Given the description of an element on the screen output the (x, y) to click on. 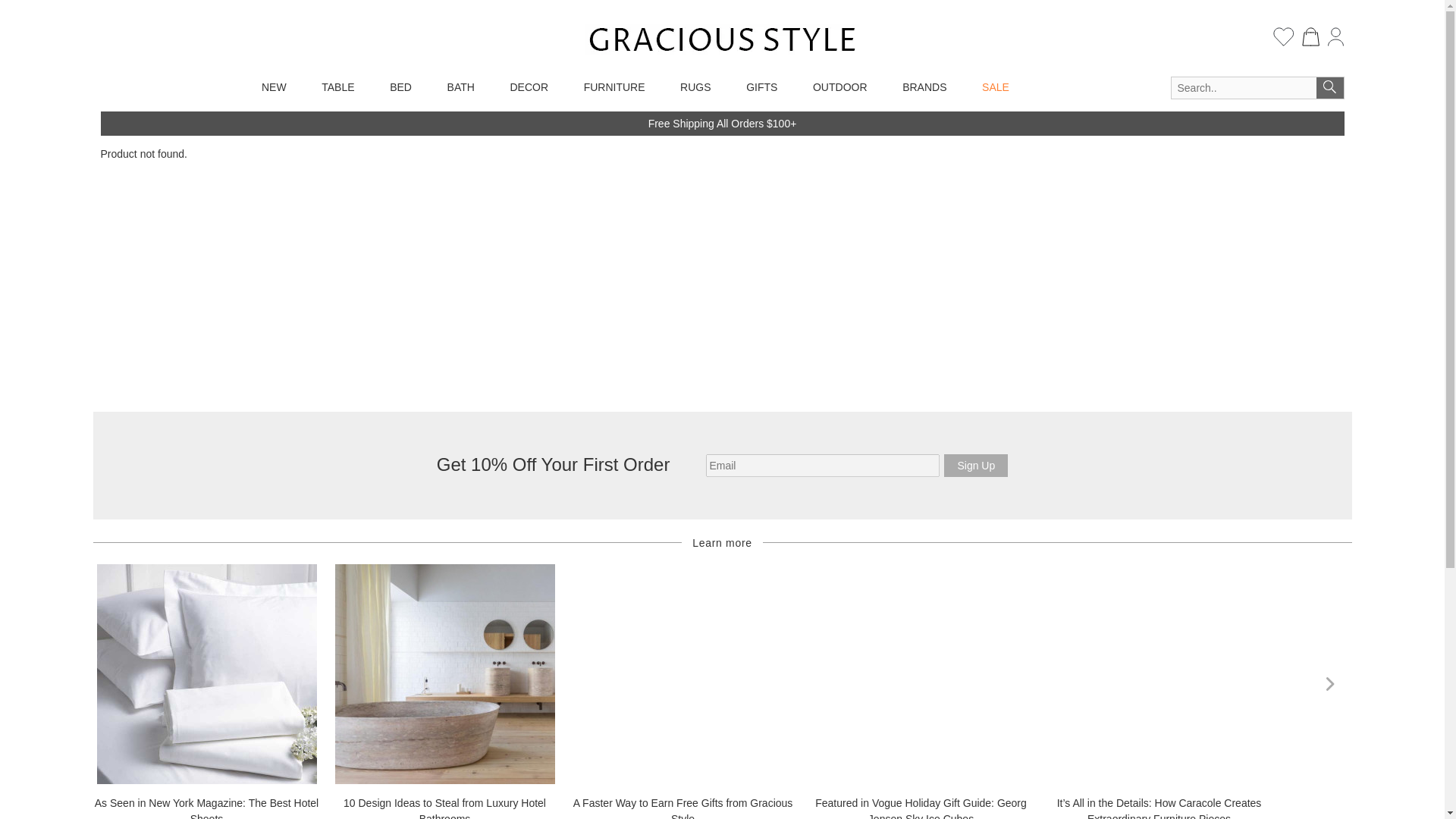
NEW (274, 87)
TABLE (337, 87)
